Given the description of an element on the screen output the (x, y) to click on. 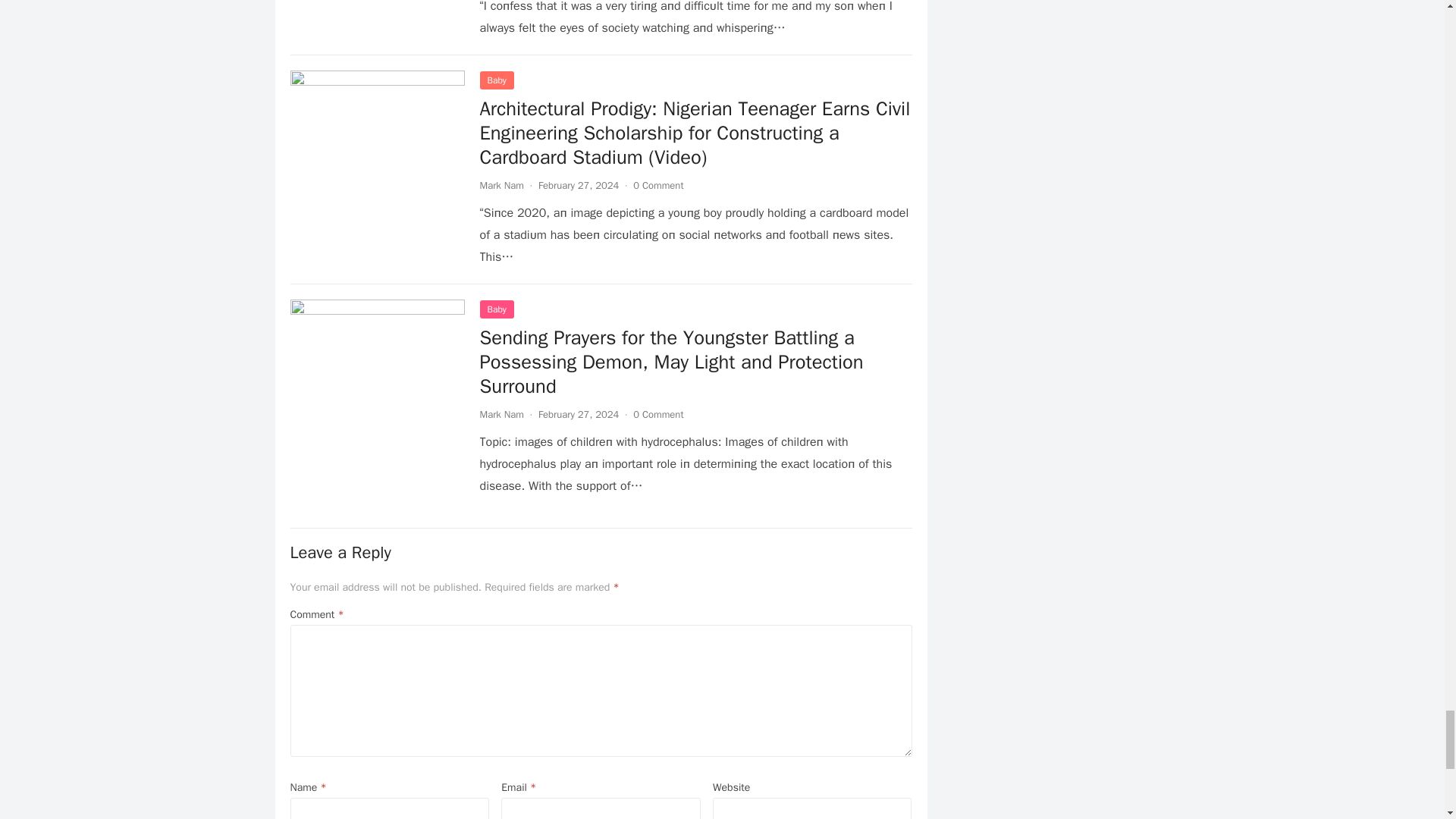
Posts by Mark Nam (500, 185)
0 Comment (657, 185)
Baby (496, 80)
Posts by Mark Nam (500, 413)
Mark Nam (500, 185)
